Given the description of an element on the screen output the (x, y) to click on. 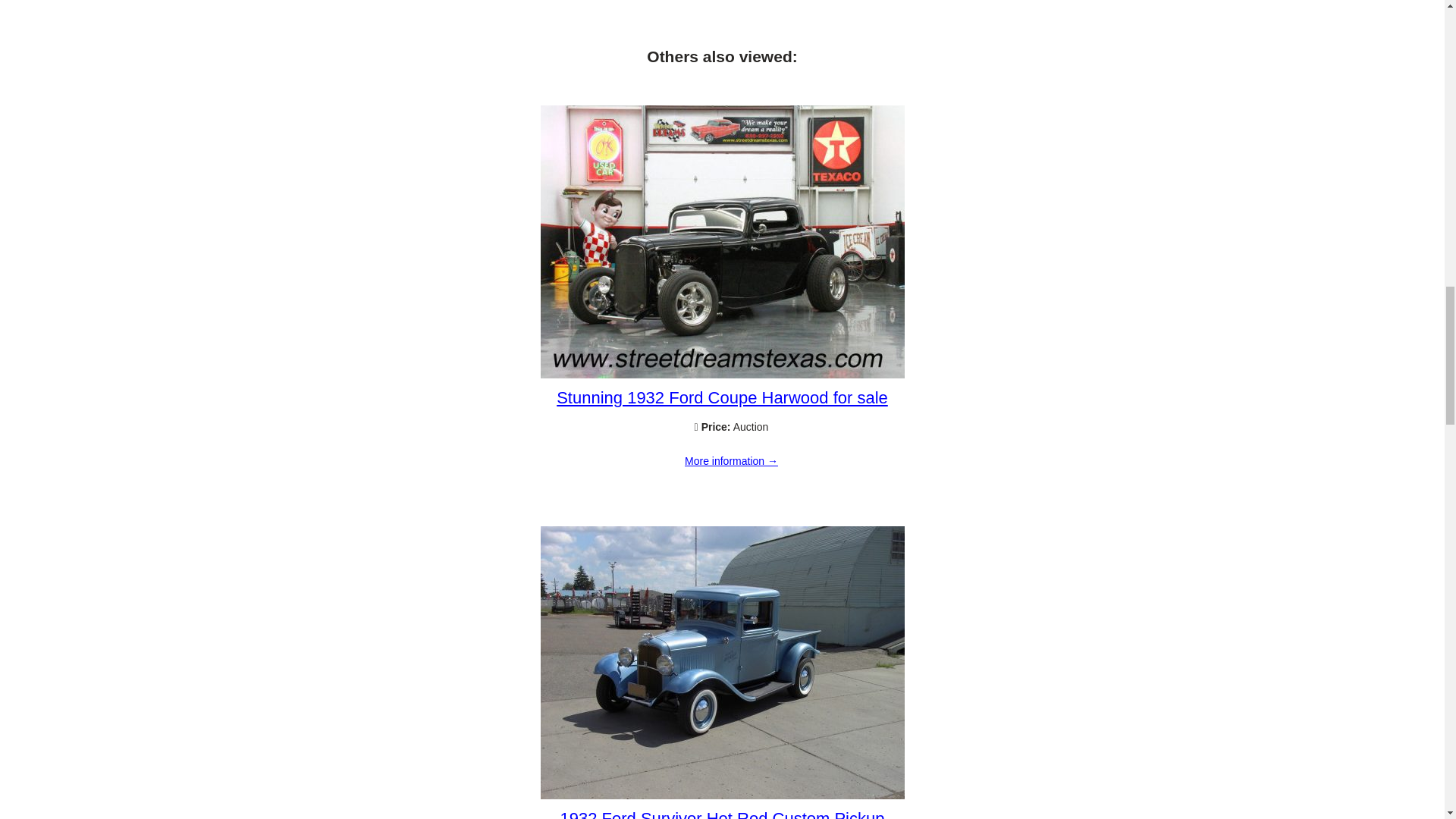
1932 Ford Survivor Hot Rod Custom Pickup Buick 401 for sale (722, 795)
Stunning 1932 Ford Coupe Harwood for sale (731, 461)
Stunning 1932 Ford Coupe Harwood for sale (722, 397)
Stunning 1932 Ford Coupe Harwood for sale (722, 374)
1932 Ford Survivor Hot Rod Custom Pickup Buick 401 for sale (722, 814)
